Given the description of an element on the screen output the (x, y) to click on. 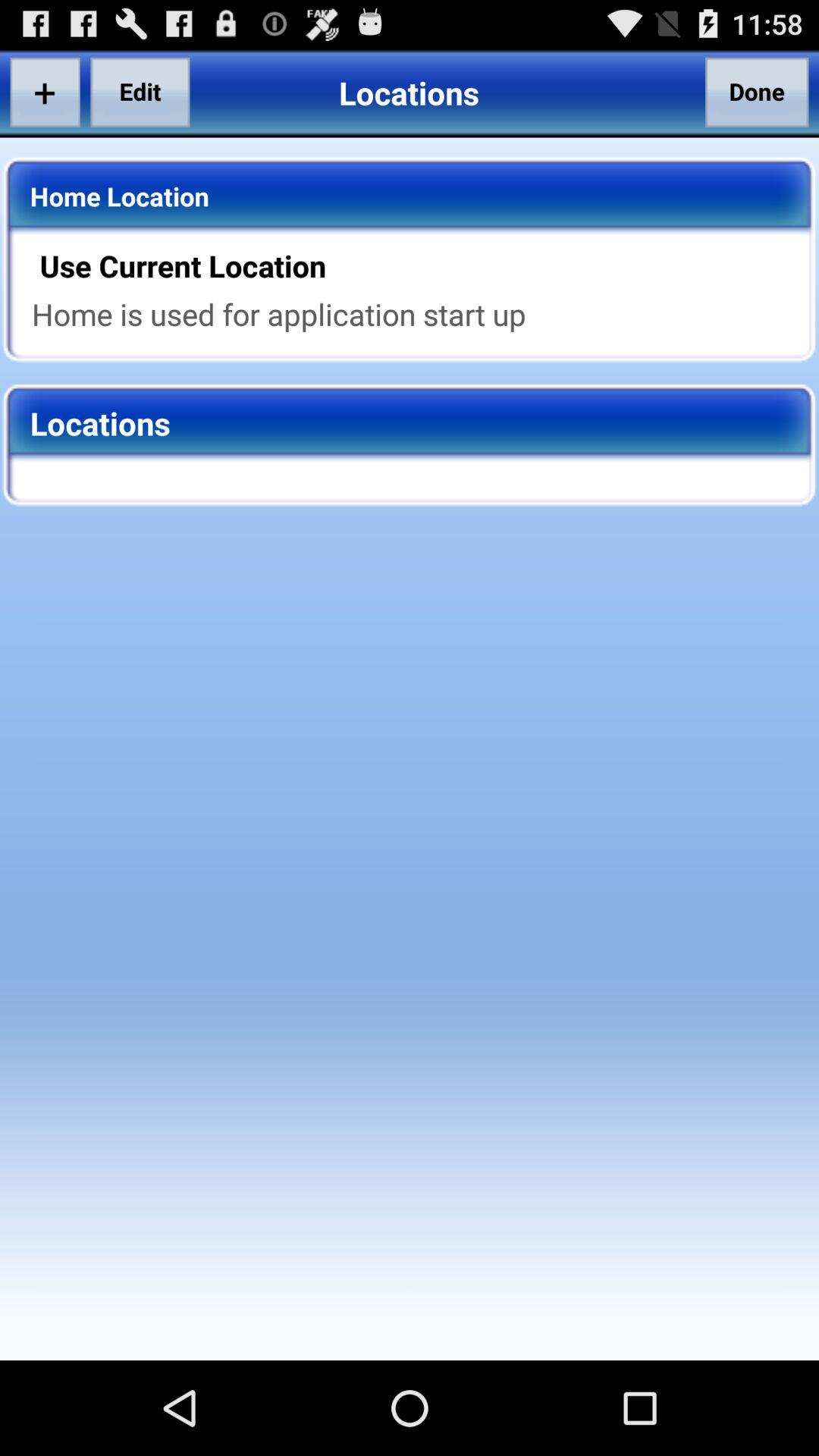
flip until the edit (139, 92)
